Given the description of an element on the screen output the (x, y) to click on. 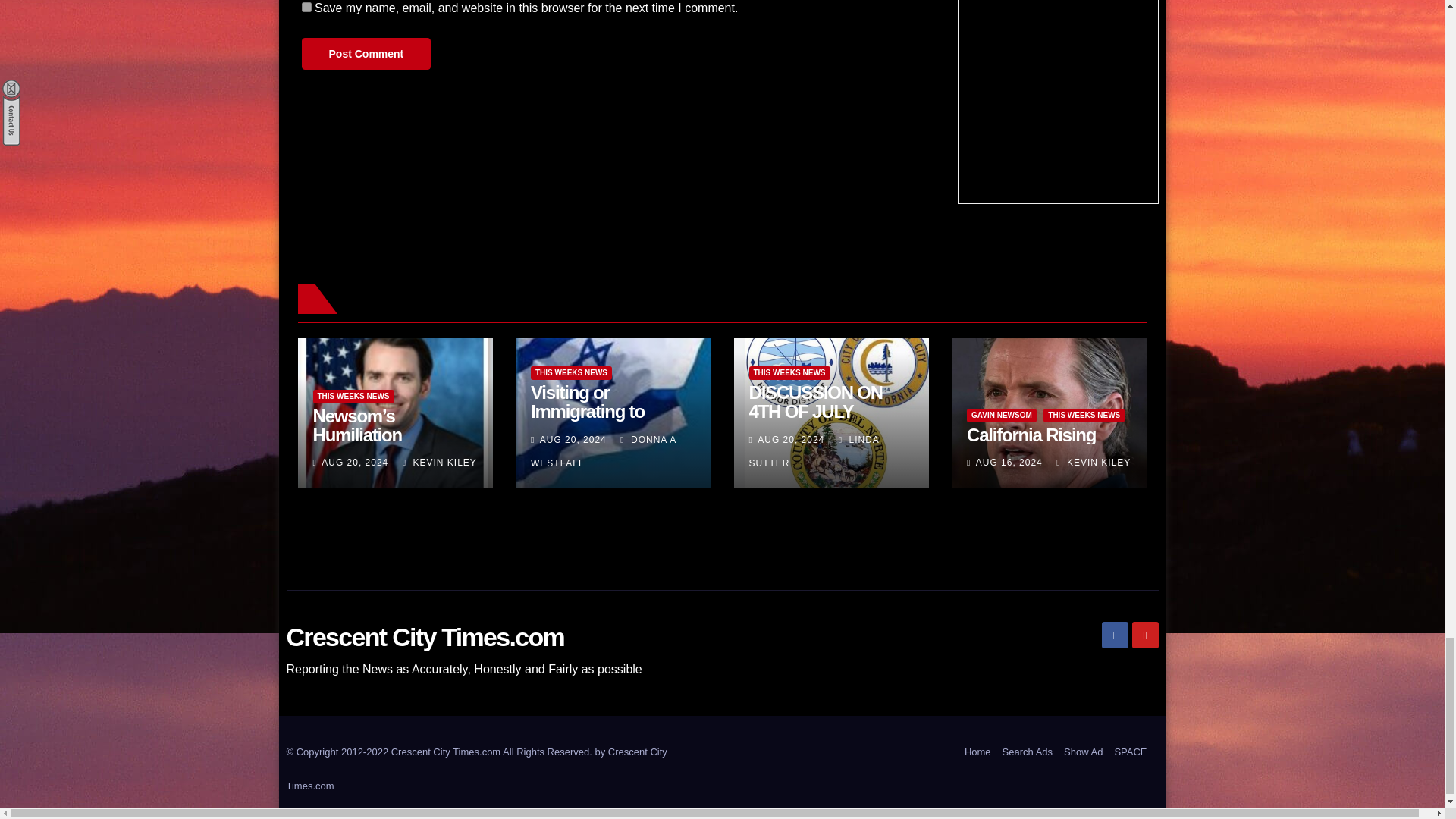
yes (306, 7)
Post Comment (365, 53)
Post Comment (365, 53)
Permalink to: Visiting or Immigrating to Israel? (588, 411)
